Given the description of an element on the screen output the (x, y) to click on. 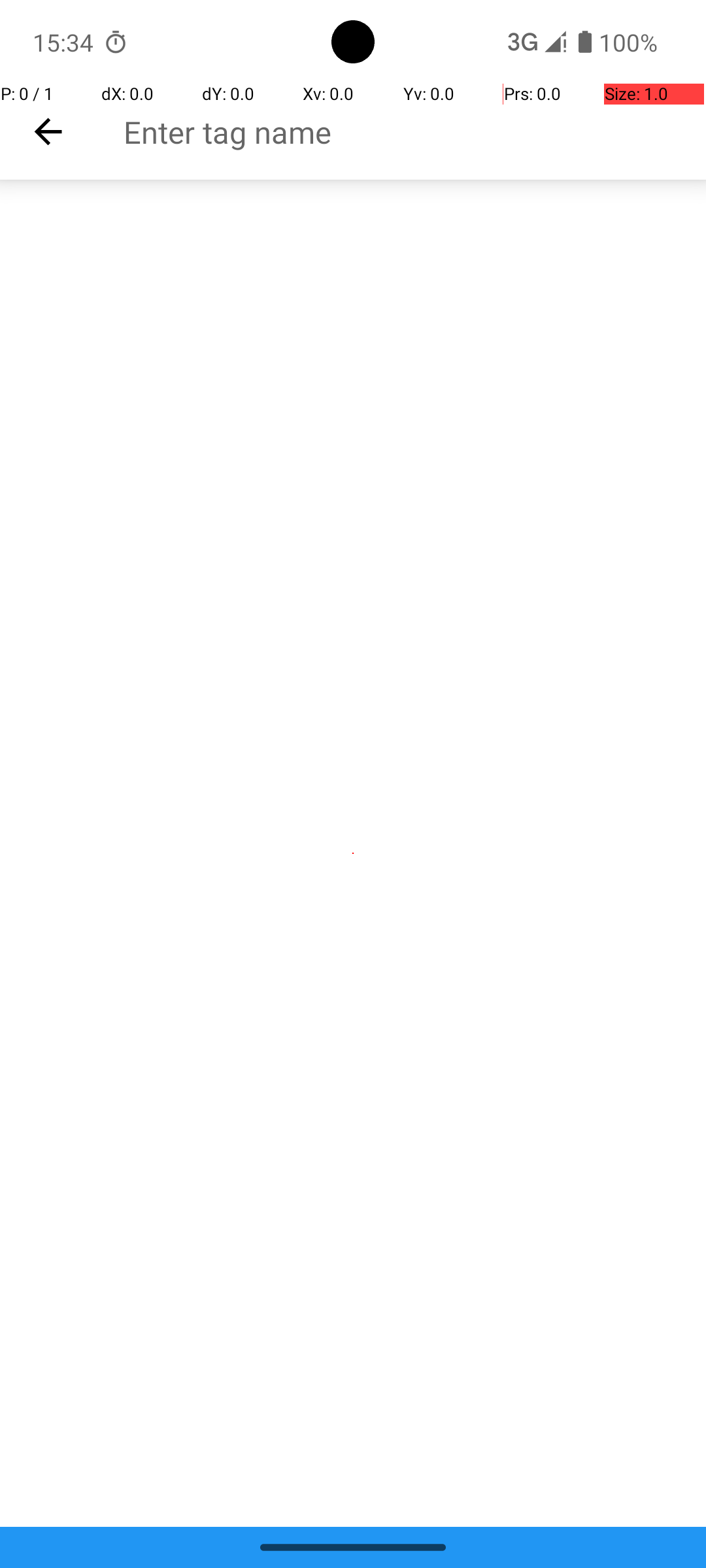
Enter tag name Element type: android.widget.EditText (414, 131)
